Given the description of an element on the screen output the (x, y) to click on. 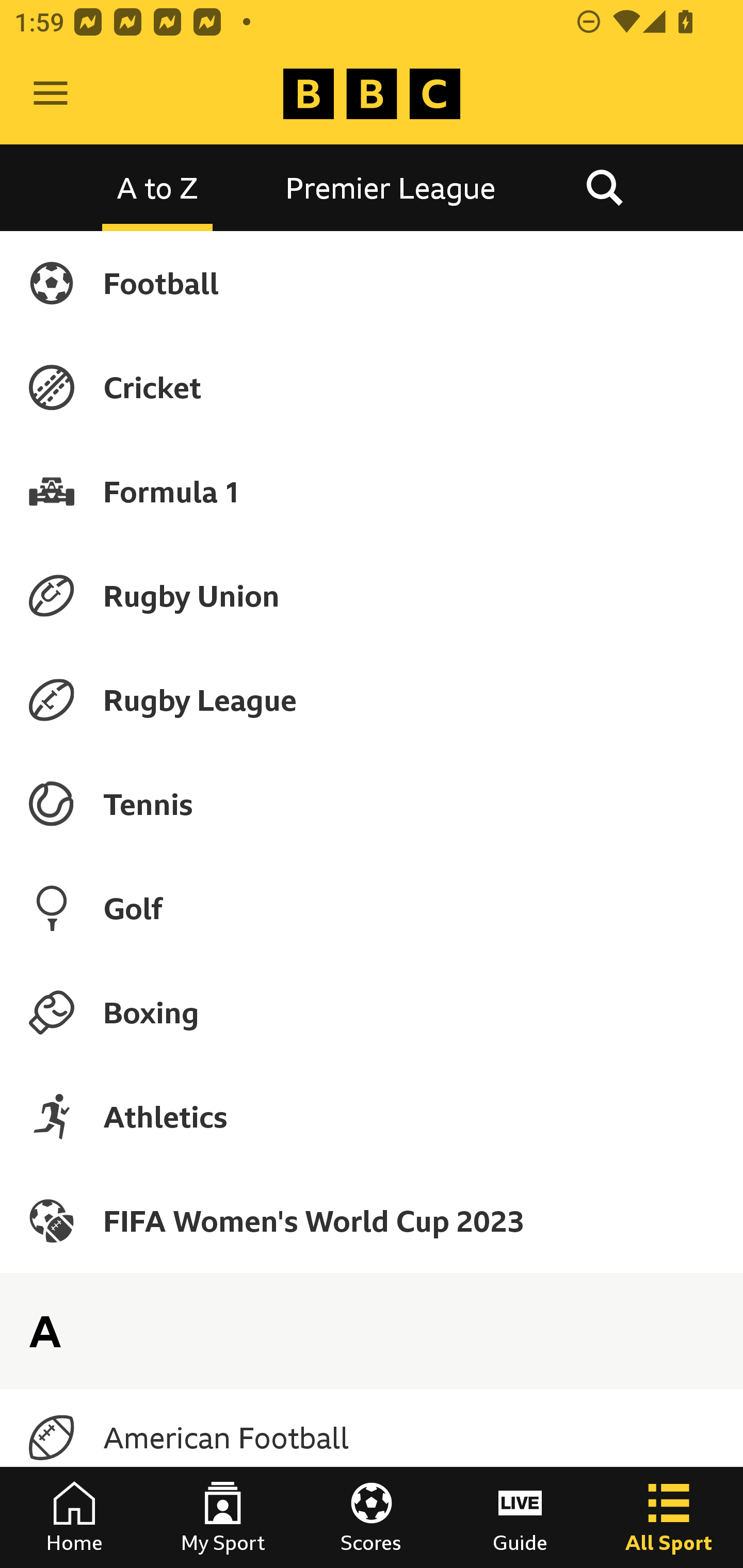
Open Menu (50, 93)
Premier League (390, 187)
Search (604, 187)
Football (371, 282)
Cricket (371, 387)
Formula 1 (371, 491)
Rugby Union (371, 595)
Rugby League (371, 699)
Tennis (371, 804)
Golf (371, 907)
Boxing (371, 1011)
Athletics (371, 1116)
FIFA Women's World Cup 2023 (371, 1220)
American Football (371, 1437)
Home (74, 1517)
My Sport (222, 1517)
Scores (371, 1517)
Guide (519, 1517)
